Given the description of an element on the screen output the (x, y) to click on. 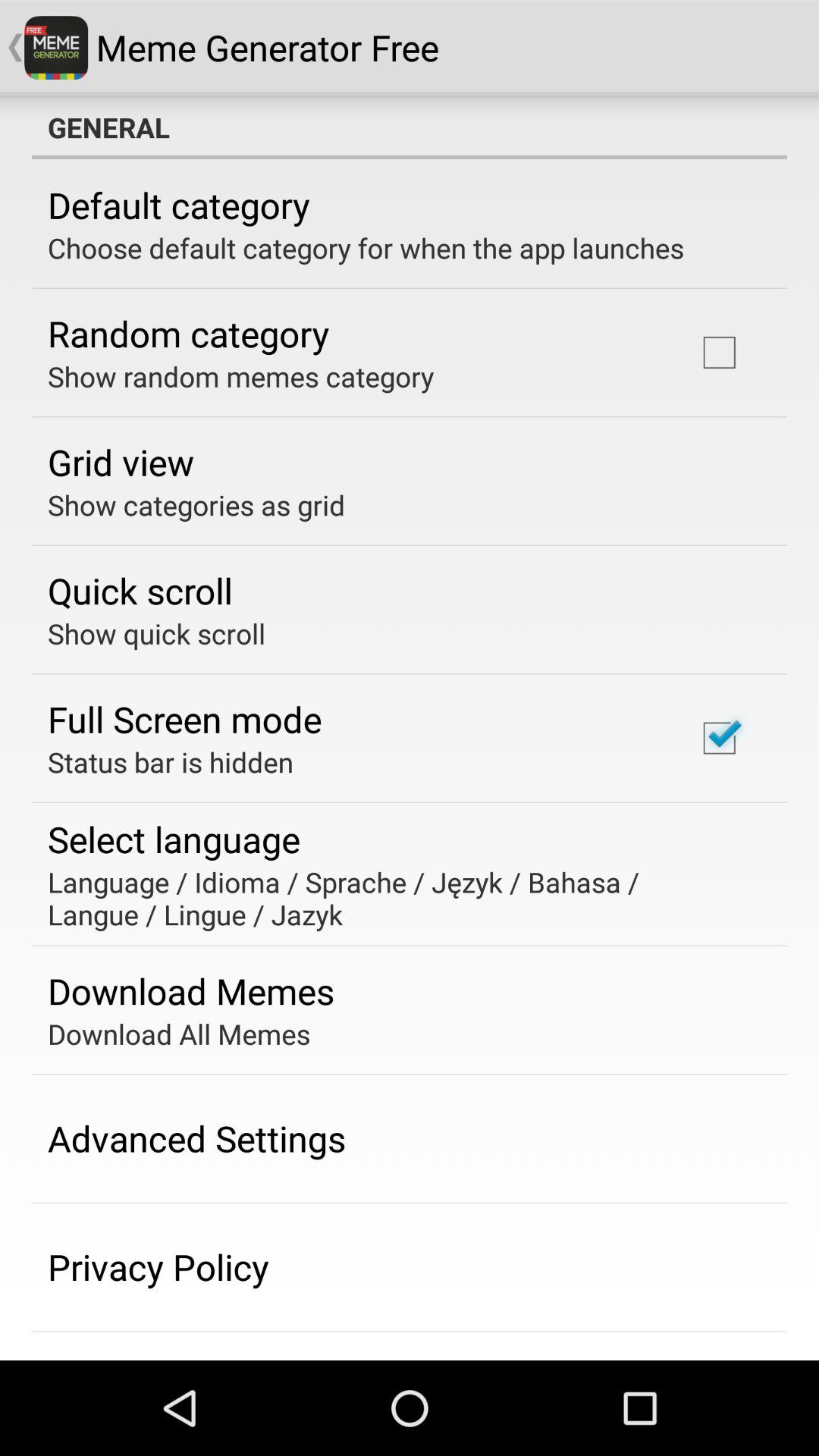
scroll until the select language (173, 839)
